Given the description of an element on the screen output the (x, y) to click on. 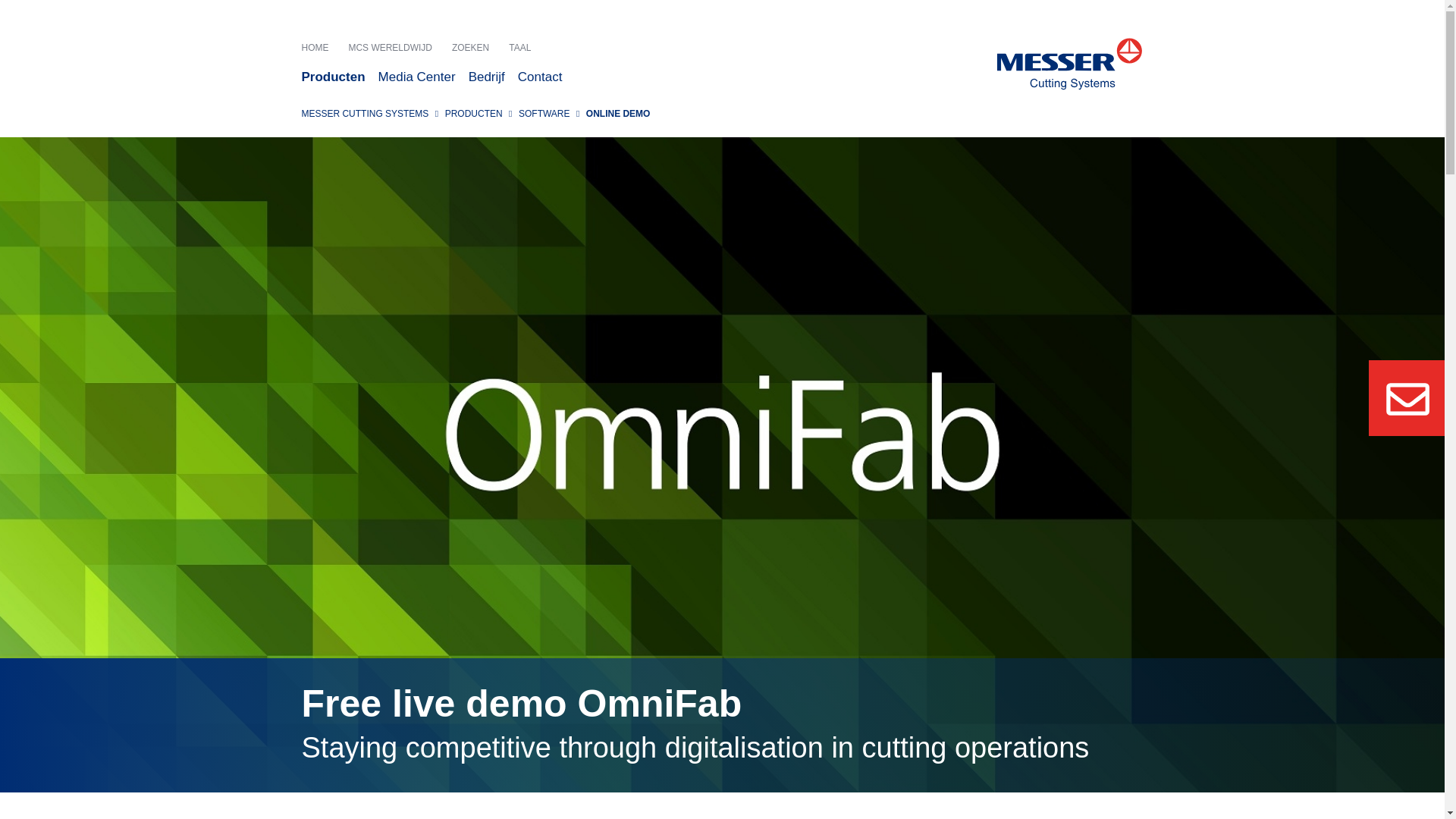
PRODUCTEN (473, 113)
MCS WERELDWIJD (396, 47)
HOME (321, 47)
Contact (546, 76)
ONLINE DEMO (618, 113)
TAAL (525, 47)
SOFTWARE (543, 113)
ZOEKEN (476, 47)
MESSER CUTTING SYSTEMS (365, 113)
